Given the description of an element on the screen output the (x, y) to click on. 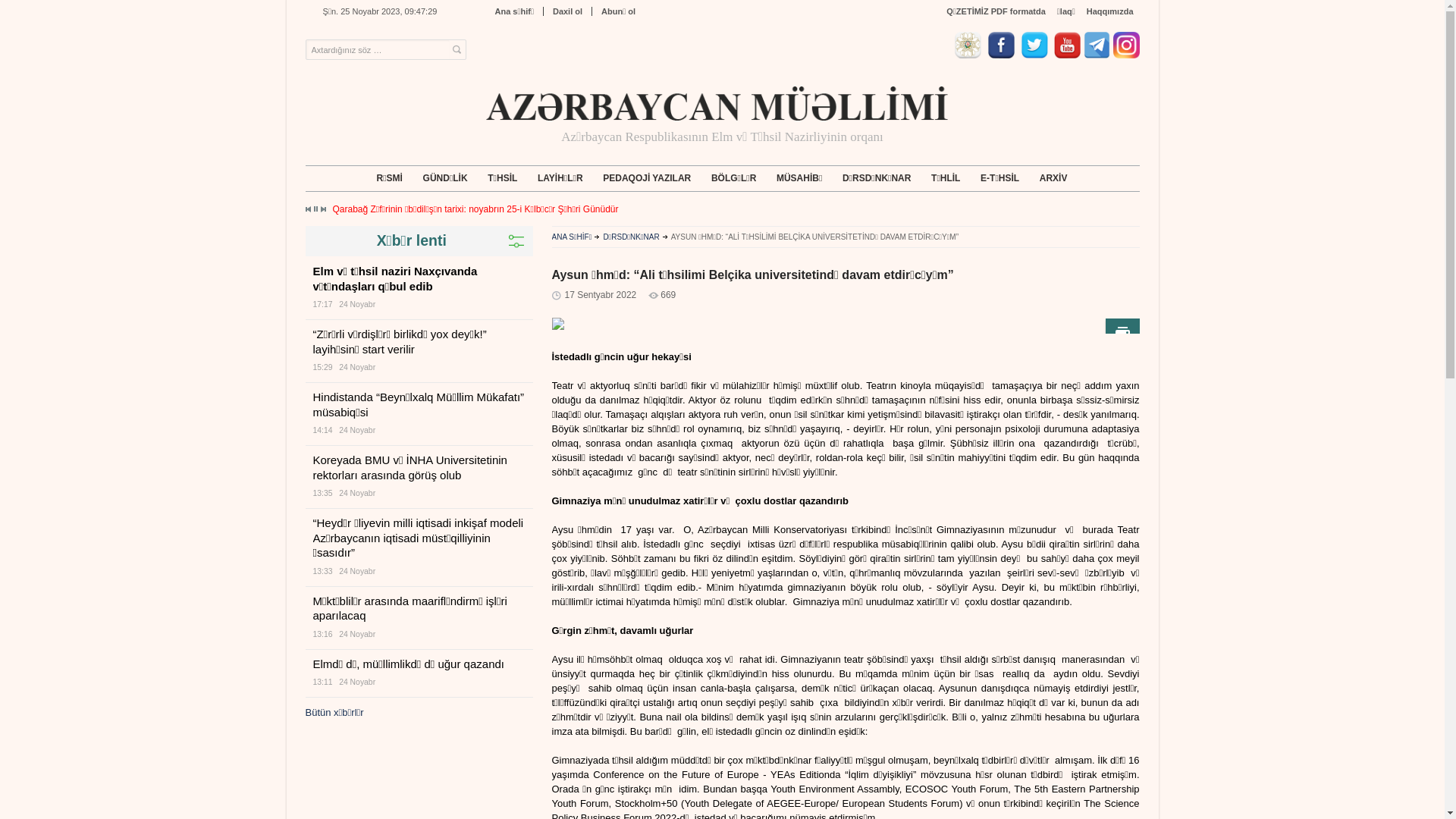
Previous Element type: text (308, 209)
Axtar Element type: text (456, 50)
Daxil ol Element type: text (567, 10)
Pause Element type: text (315, 208)
Youtube-da Element type: hover (1067, 54)
Facebookda Element type: hover (1003, 54)
Instagram Element type: hover (1126, 54)
Telegram Element type: hover (1096, 54)
Twitterde Element type: hover (1036, 54)
Tehsil Nazirliyi Element type: hover (969, 54)
Next Element type: text (322, 209)
